Given the description of an element on the screen output the (x, y) to click on. 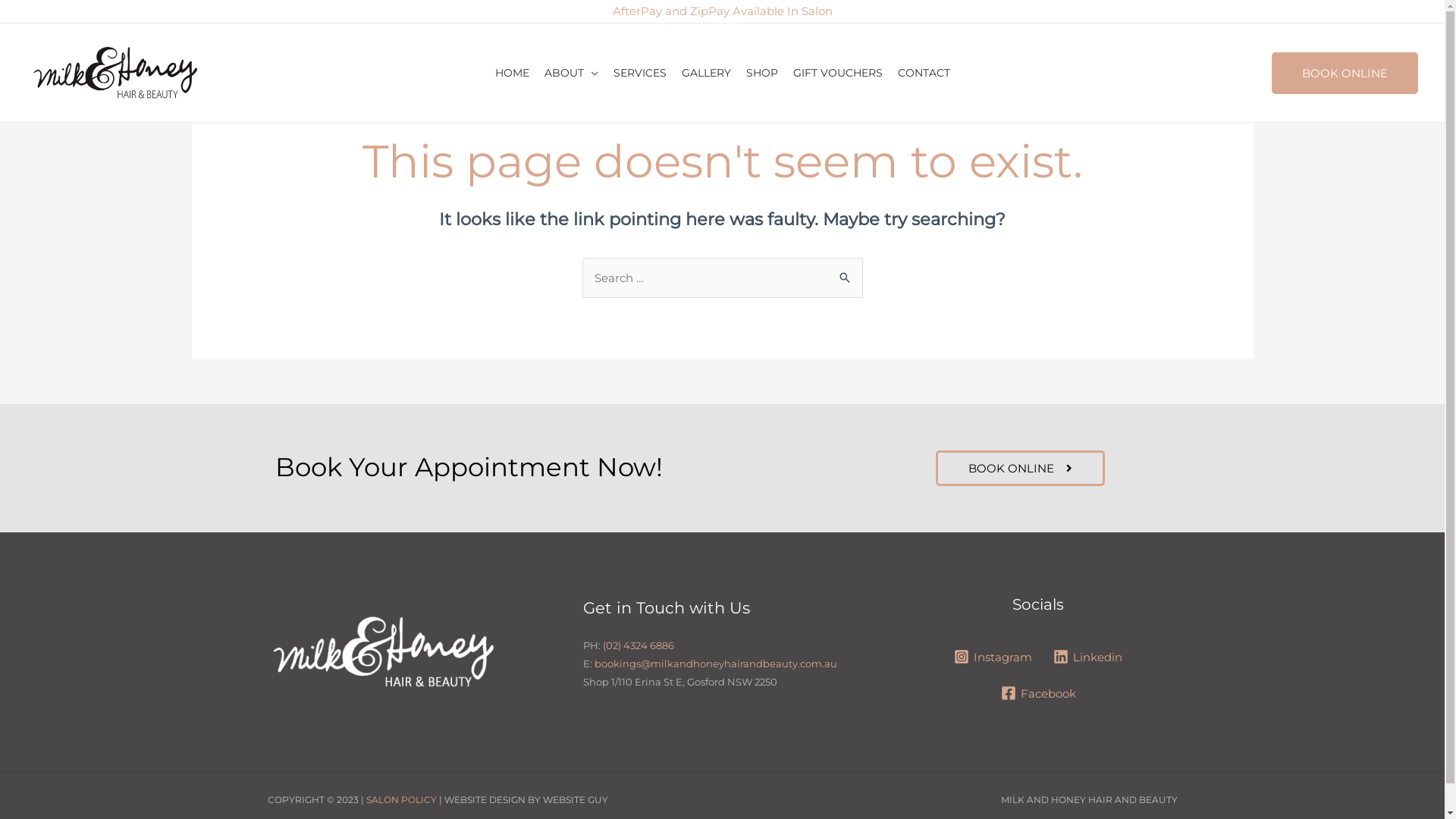
Facebook Element type: text (1038, 692)
GIFT VOUCHERS Element type: text (837, 72)
SHOP Element type: text (761, 72)
HOME Element type: text (511, 72)
SERVICES Element type: text (639, 72)
Search Element type: text (845, 272)
CONTACT Element type: text (923, 72)
Instagram Element type: text (992, 656)
GALLERY Element type: text (705, 72)
(02) 4324 6886 Element type: text (638, 645)
BOOK ONLINE Element type: text (1344, 72)
ABOUT Element type: text (570, 72)
bookings@milkandhoneyhairandbeauty.com.au Element type: text (715, 663)
BOOK ONLINE Element type: text (1019, 468)
SALON POLICY Element type: text (400, 799)
Linkedin Element type: text (1087, 656)
